Given the description of an element on the screen output the (x, y) to click on. 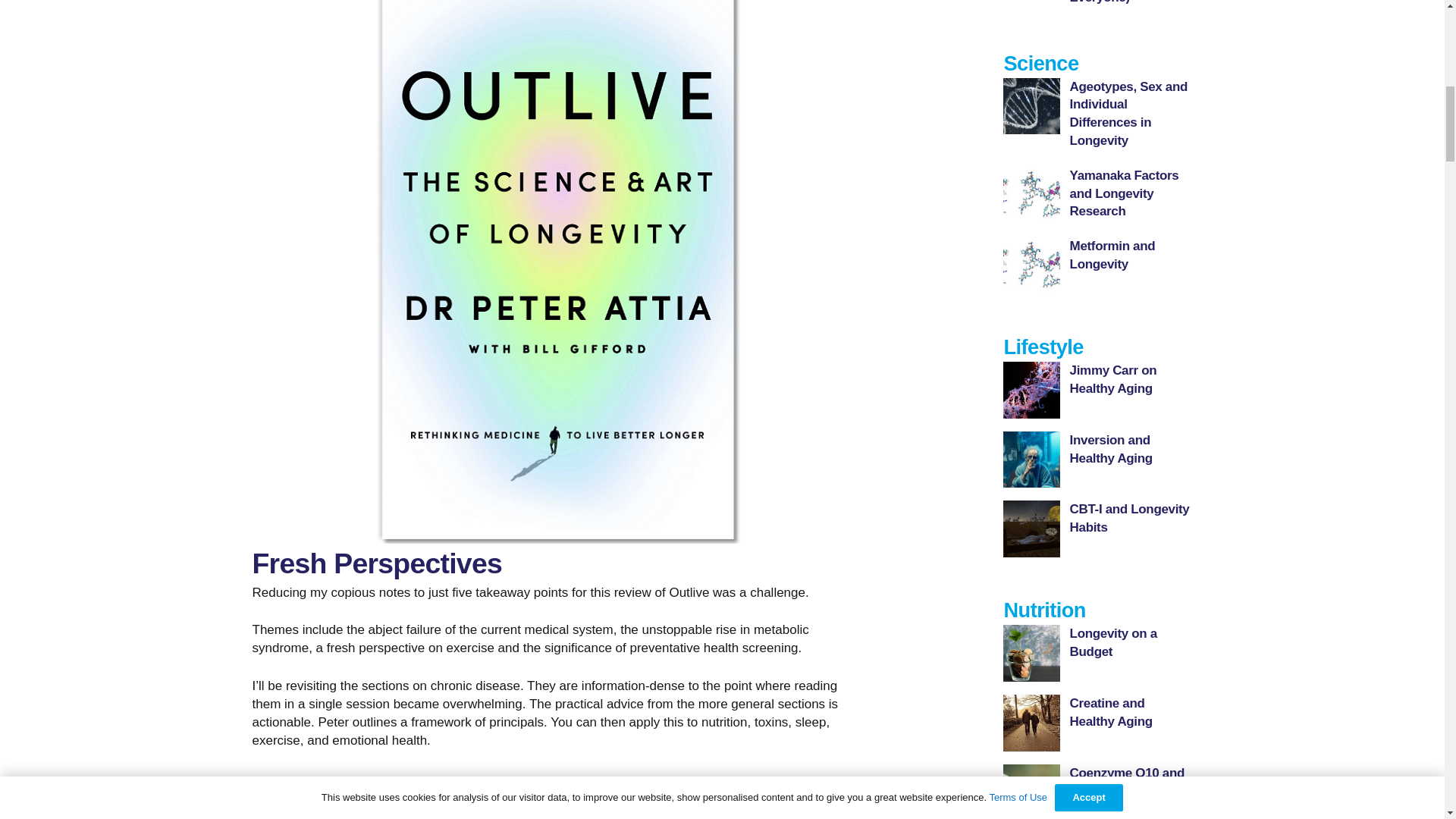
Metformin and Longevity (1113, 255)
Yamanaka Factors and Longevity Research (1124, 193)
Inversion and Healthy Aging (1111, 449)
Jimmy Carr on Healthy Aging (1113, 379)
Ageotypes, Sex and Individual Differences in Longevity (1129, 113)
CBT-I and Longevity Habits (1129, 518)
Longevity on a Budget (1113, 642)
